Given the description of an element on the screen output the (x, y) to click on. 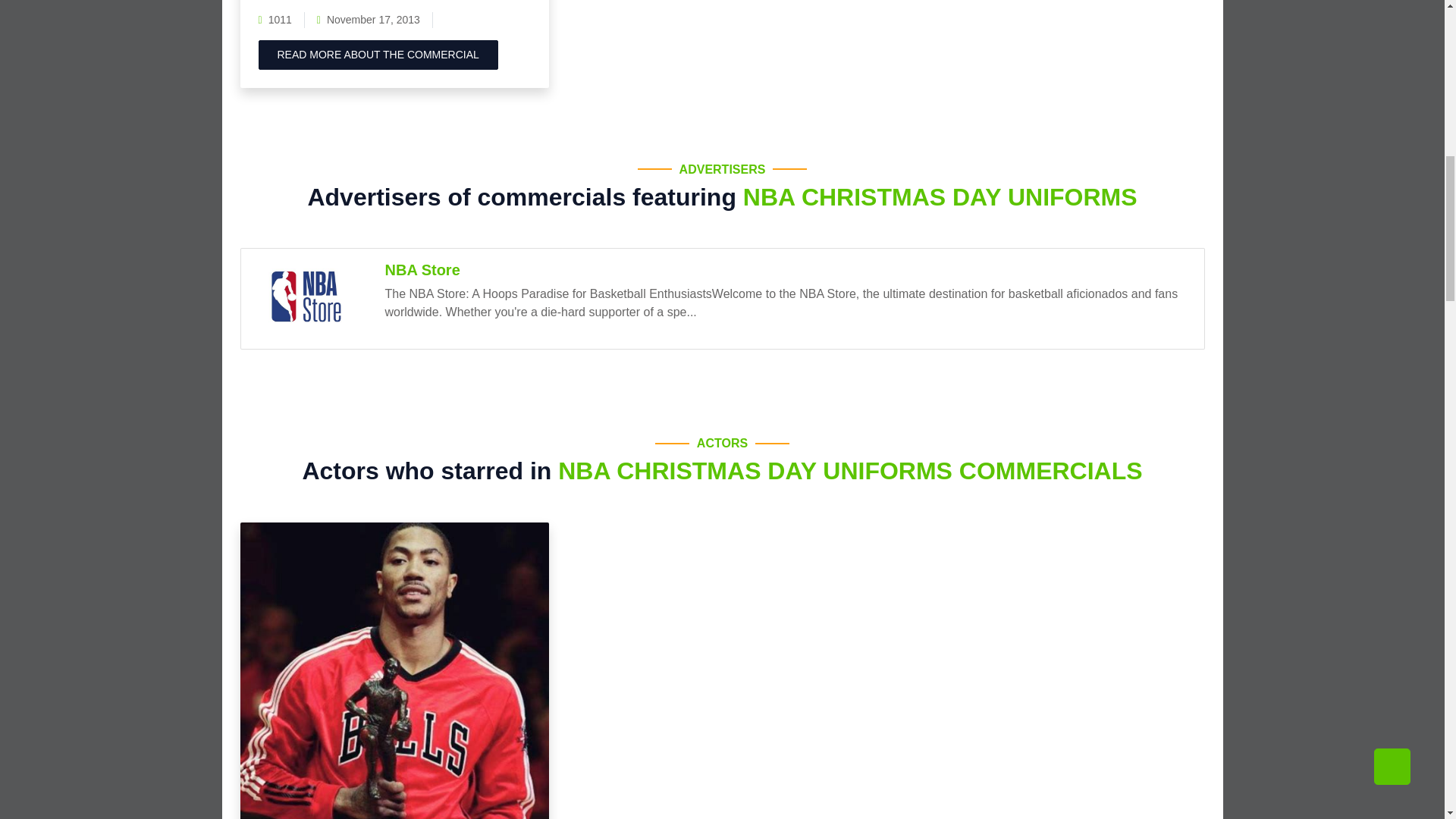
Derrick Rose (394, 670)
NBA Store (309, 298)
READ MORE ABOUT THE COMMERCIAL (377, 54)
NBA Store (422, 269)
